Given the description of an element on the screen output the (x, y) to click on. 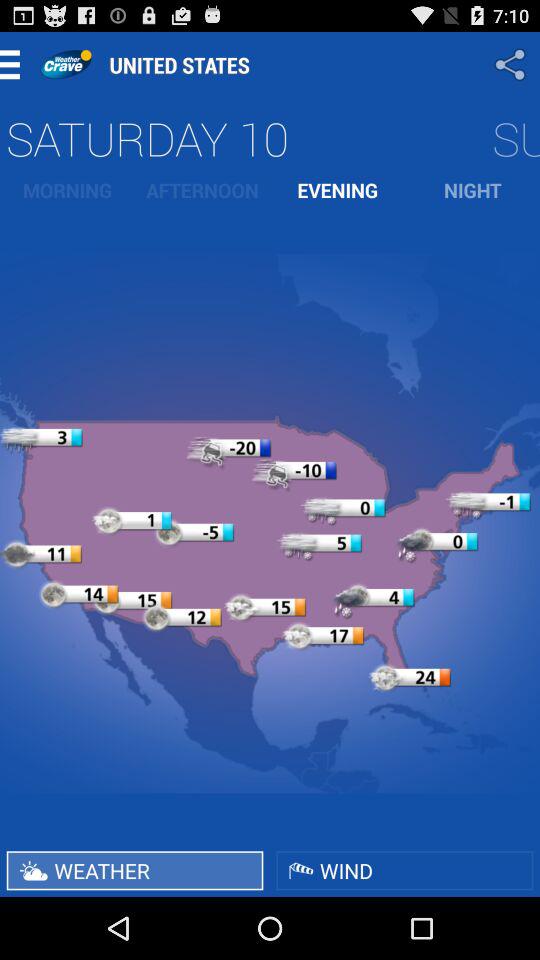
click icon next to the united states item (65, 64)
